Given the description of an element on the screen output the (x, y) to click on. 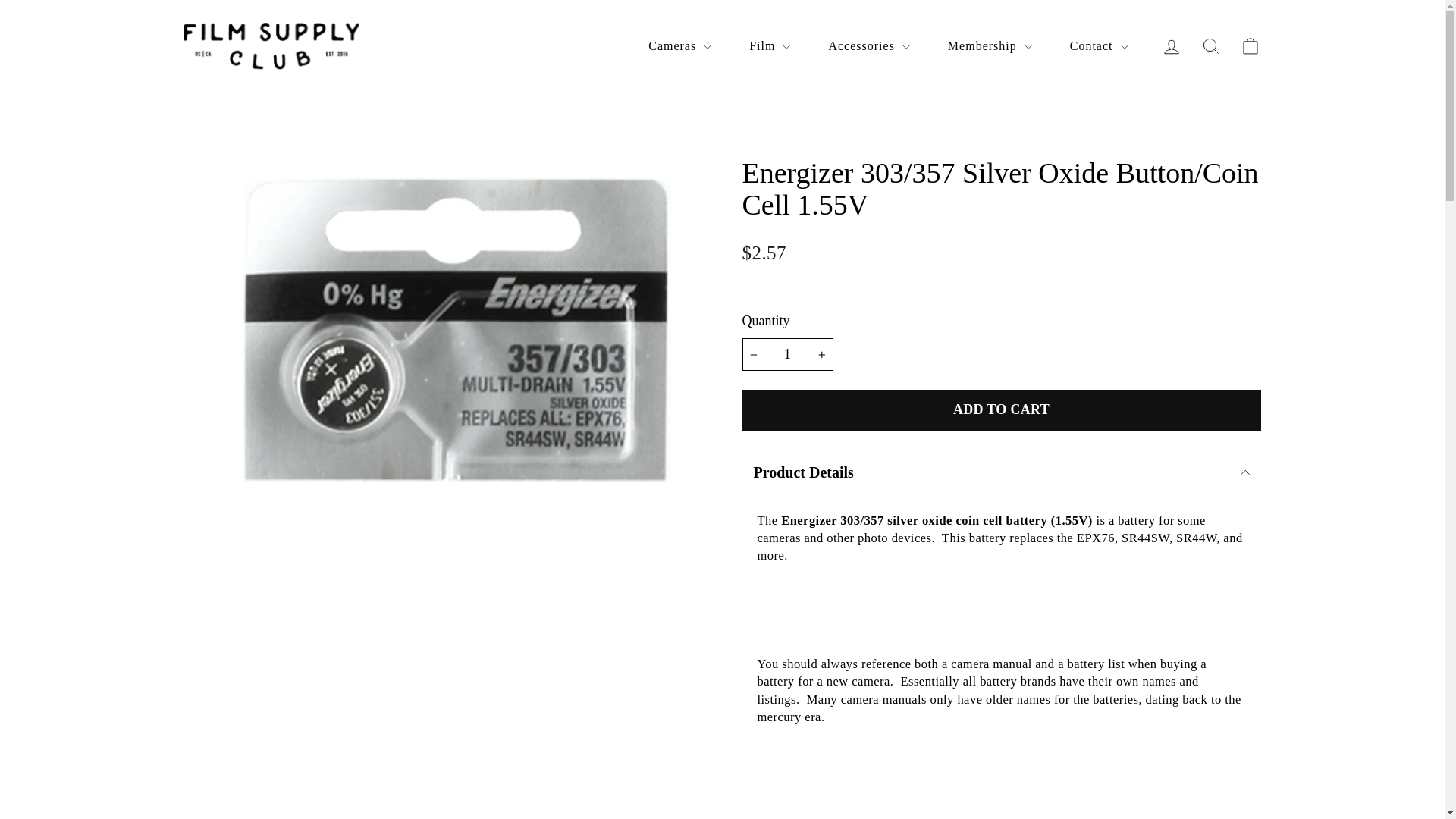
1 (786, 354)
ACCOUNT (1170, 46)
ICON-BAG-MINIMAL (1249, 46)
ICON-SEARCH (1210, 46)
